Given the description of an element on the screen output the (x, y) to click on. 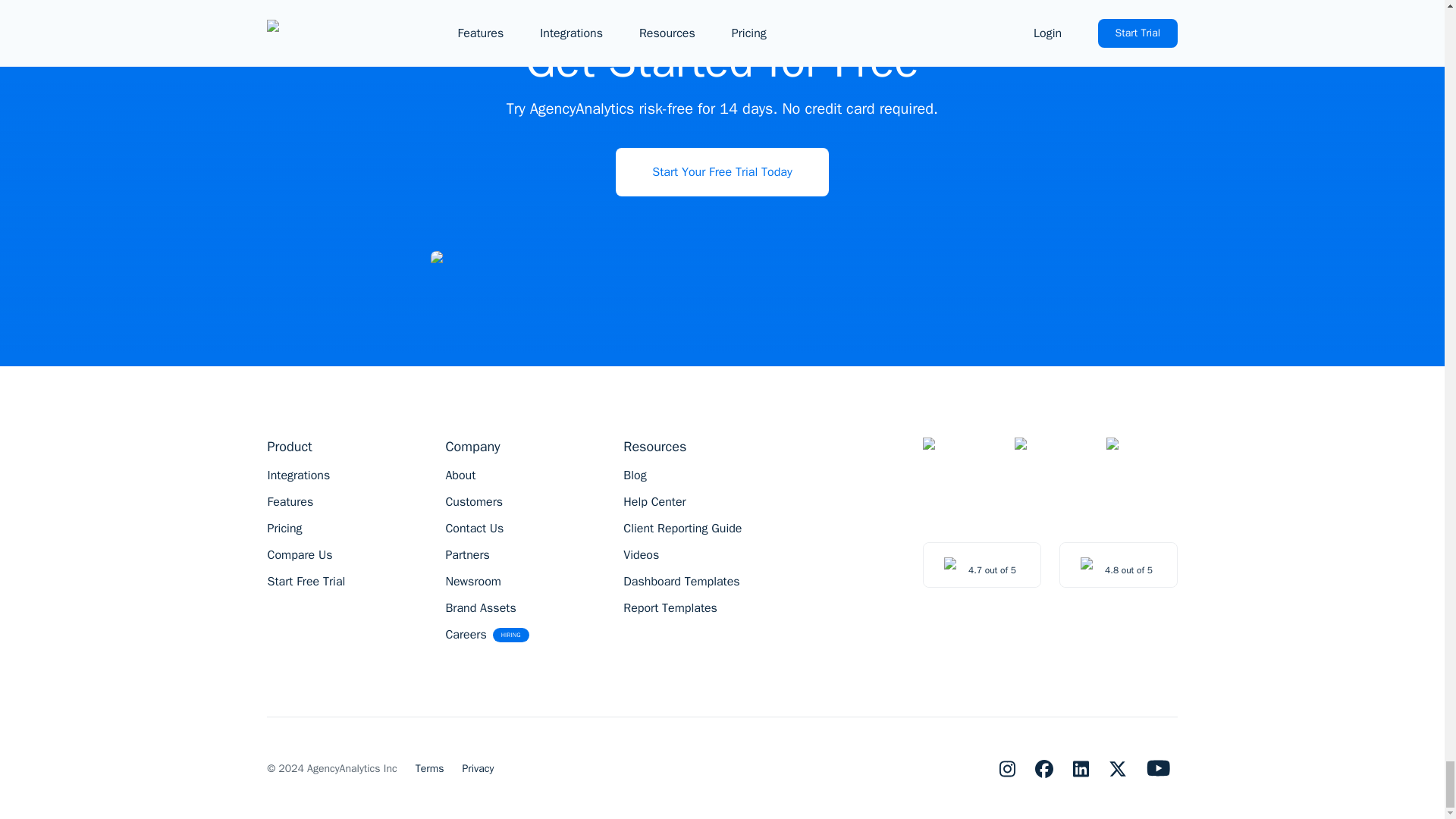
LinkedIn (1080, 768)
YouTube (1158, 767)
Facebook (1043, 768)
Instagram (1007, 768)
Read reviews on Capterra (1117, 564)
Read reviews on G2 Crowd (982, 564)
